Given the description of an element on the screen output the (x, y) to click on. 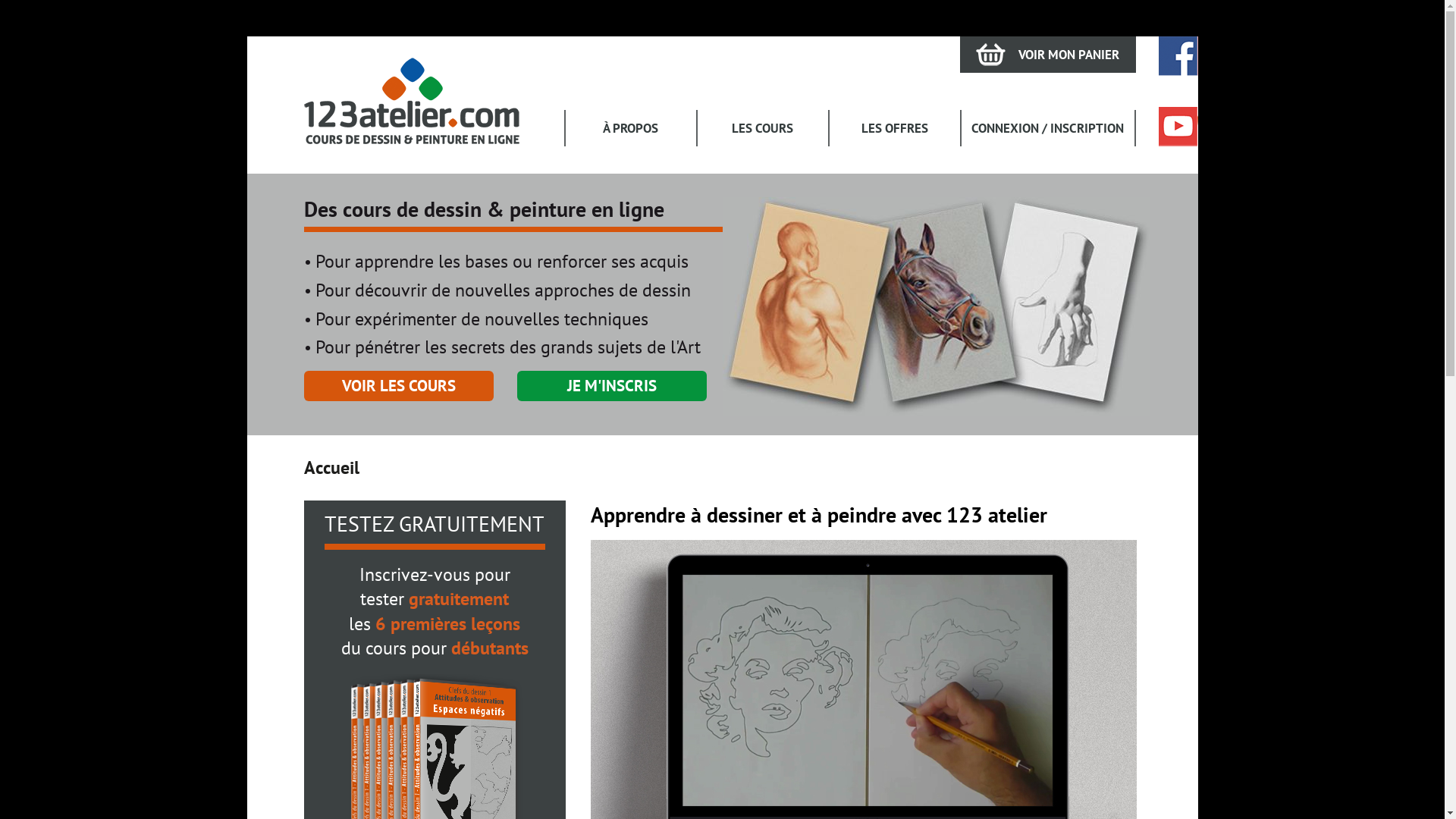
Facebook Element type: text (1178, 55)
VOIR LES COURS Element type: text (397, 385)
LES COURS Element type: text (762, 127)
Youtube Element type: text (1178, 126)
VOIR MON PANIER Element type: text (1047, 54)
JE M'INSCRIS Element type: text (611, 385)
LES OFFRES Element type: text (894, 127)
CONNEXION / INSCRIPTION Element type: text (1047, 127)
